Given the description of an element on the screen output the (x, y) to click on. 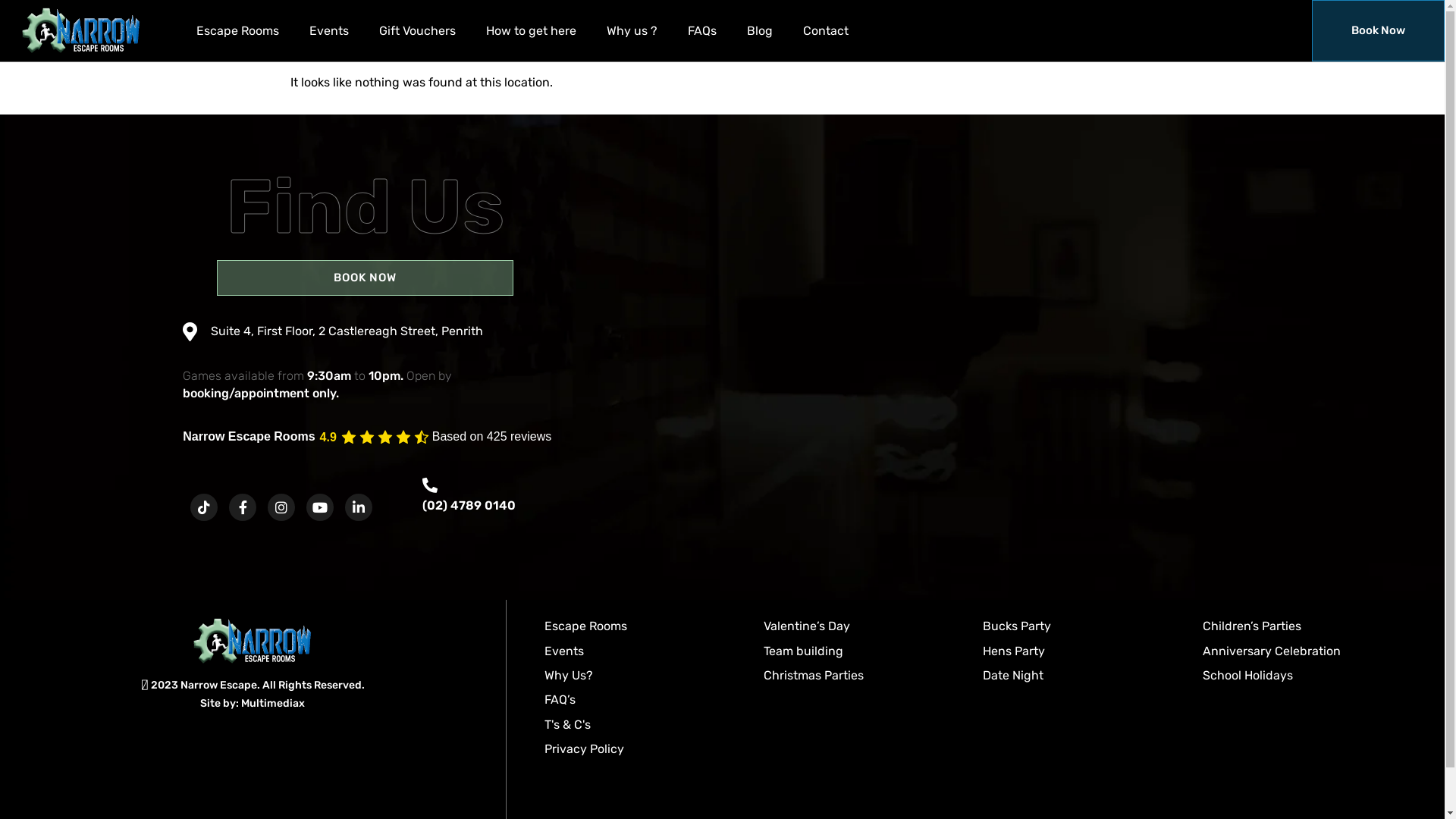
Events Element type: text (563, 651)
Hens Party Element type: text (1013, 651)
FAQs Element type: text (701, 30)
Privacy Policy Element type: text (584, 749)
Escape Rooms Element type: text (585, 626)
How to get here Element type: text (530, 30)
(02) 4789 0140 Element type: text (468, 505)
Book Now Element type: text (1377, 30)
Blog Element type: text (759, 30)
Date Night Element type: text (1012, 675)
Escape Rooms Element type: text (237, 30)
Team building Element type: text (803, 651)
Narrow Escape Rooms Element type: text (248, 436)
T's & C's Element type: text (567, 724)
School Holidays Element type: text (1247, 675)
Christmas Parties Element type: text (813, 675)
Anniversary Celebration Element type: text (1271, 651)
BOOK NOW Element type: text (364, 277)
Why Us? Element type: text (568, 675)
Gift Vouchers Element type: text (417, 30)
Why us ? Element type: text (631, 30)
Contact Element type: text (825, 30)
Events Element type: text (329, 30)
Bucks Party Element type: text (1016, 626)
